Given the description of an element on the screen output the (x, y) to click on. 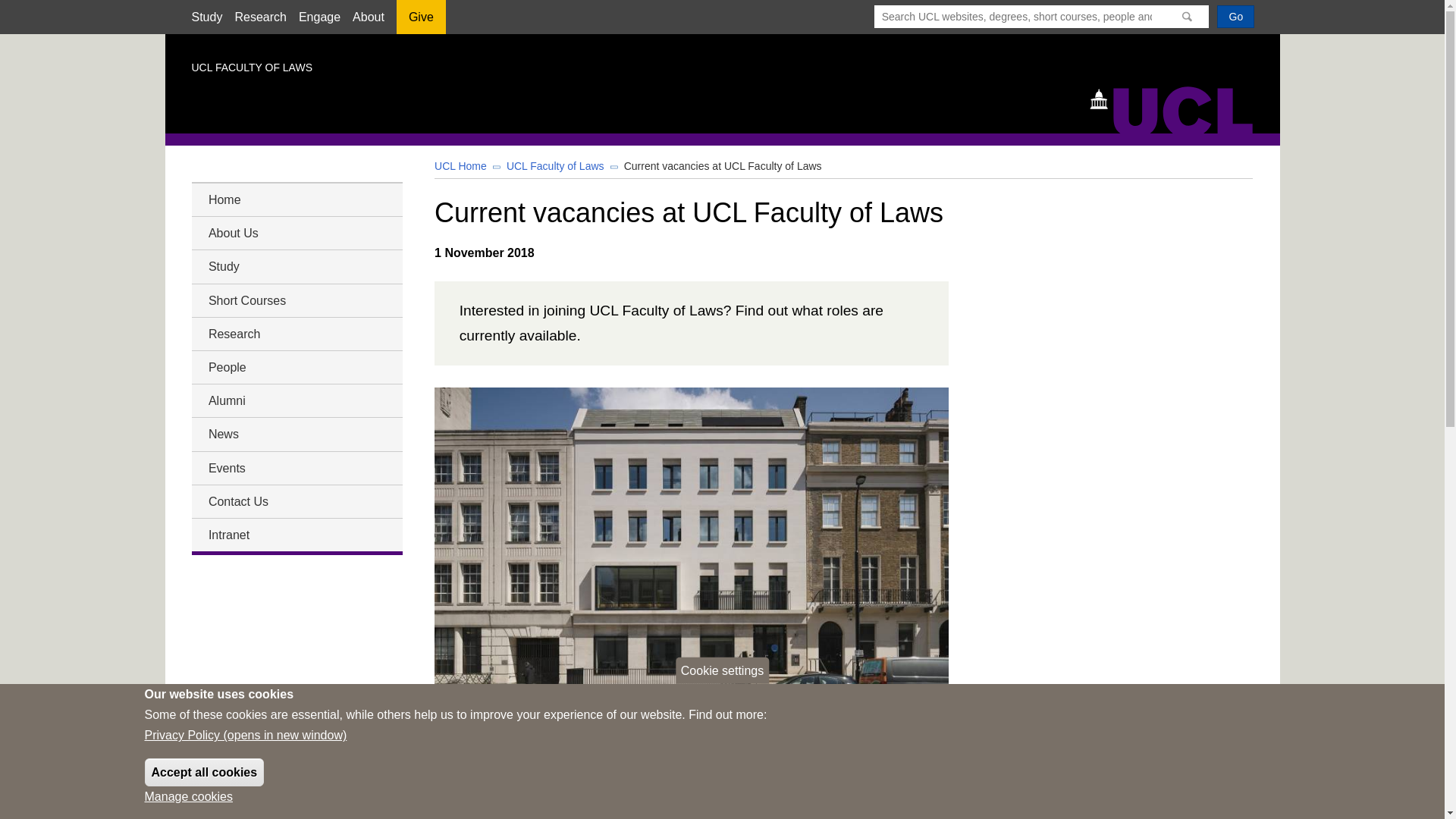
About Us (296, 232)
Research (259, 16)
About (368, 16)
Alumni (296, 400)
People (296, 367)
Engage (319, 16)
Short Courses (296, 300)
Home (296, 199)
Go (1235, 15)
Study (296, 266)
Home (1178, 108)
Go (1235, 15)
Give (420, 22)
Study (206, 16)
Research (296, 333)
